Given the description of an element on the screen output the (x, y) to click on. 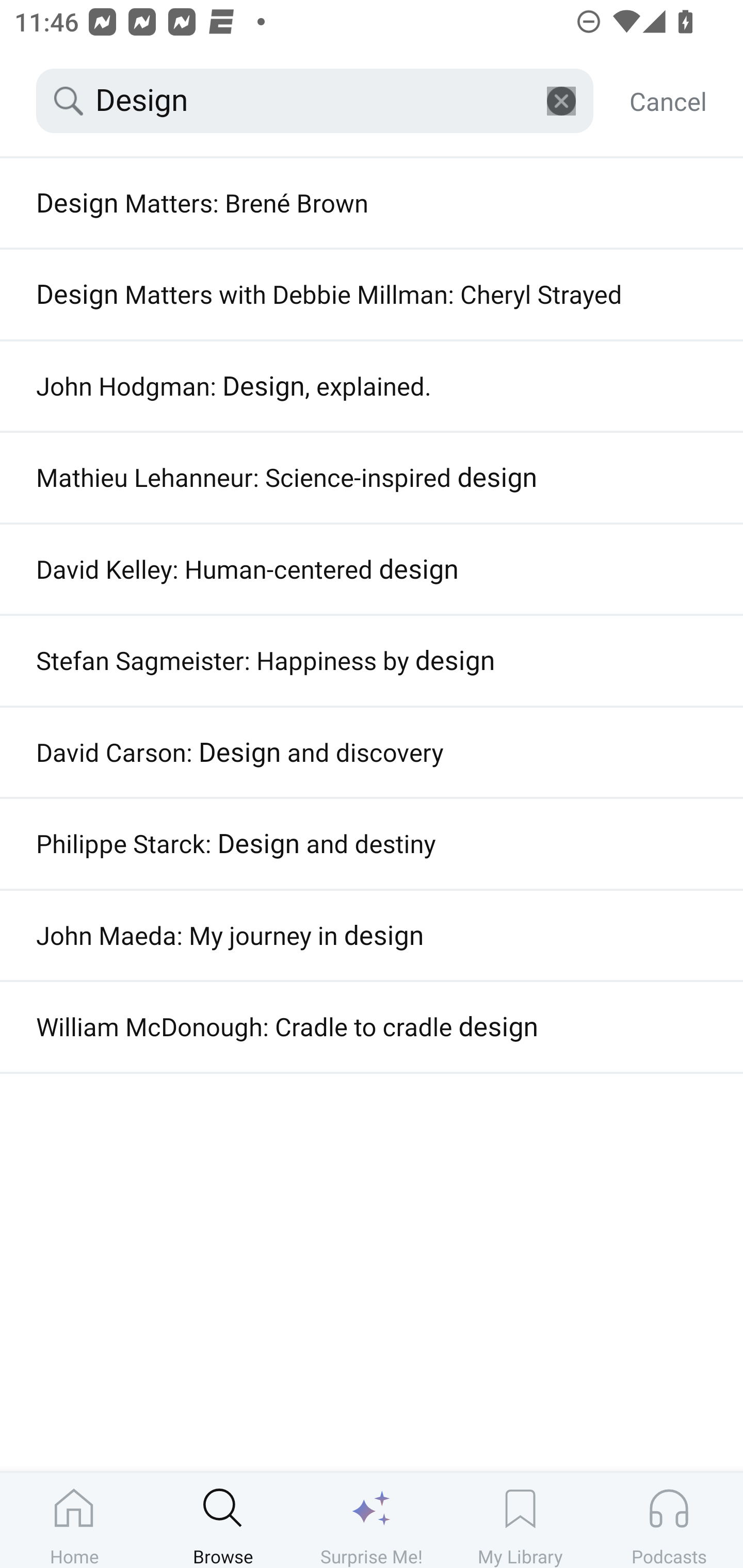
Design (314, 100)
Cancel (667, 100)
Design Matters: Brené Brown (371, 202)
Design Matters with Debbie Millman: Cheryl Strayed (371, 293)
John Hodgman: Design, explained. (371, 386)
Mathieu Lehanneur: Science-inspired design (371, 477)
David Kelley: Human-centered design (371, 569)
Stefan Sagmeister: Happiness by design (371, 660)
David Carson: Design and discovery (371, 752)
Philippe Starck: Design and destiny (371, 844)
John Maeda: My journey in design (371, 935)
William McDonough: Cradle to cradle design (371, 1026)
Home (74, 1520)
Browse (222, 1520)
Surprise Me! (371, 1520)
My Library (519, 1520)
Podcasts (668, 1520)
